Given the description of an element on the screen output the (x, y) to click on. 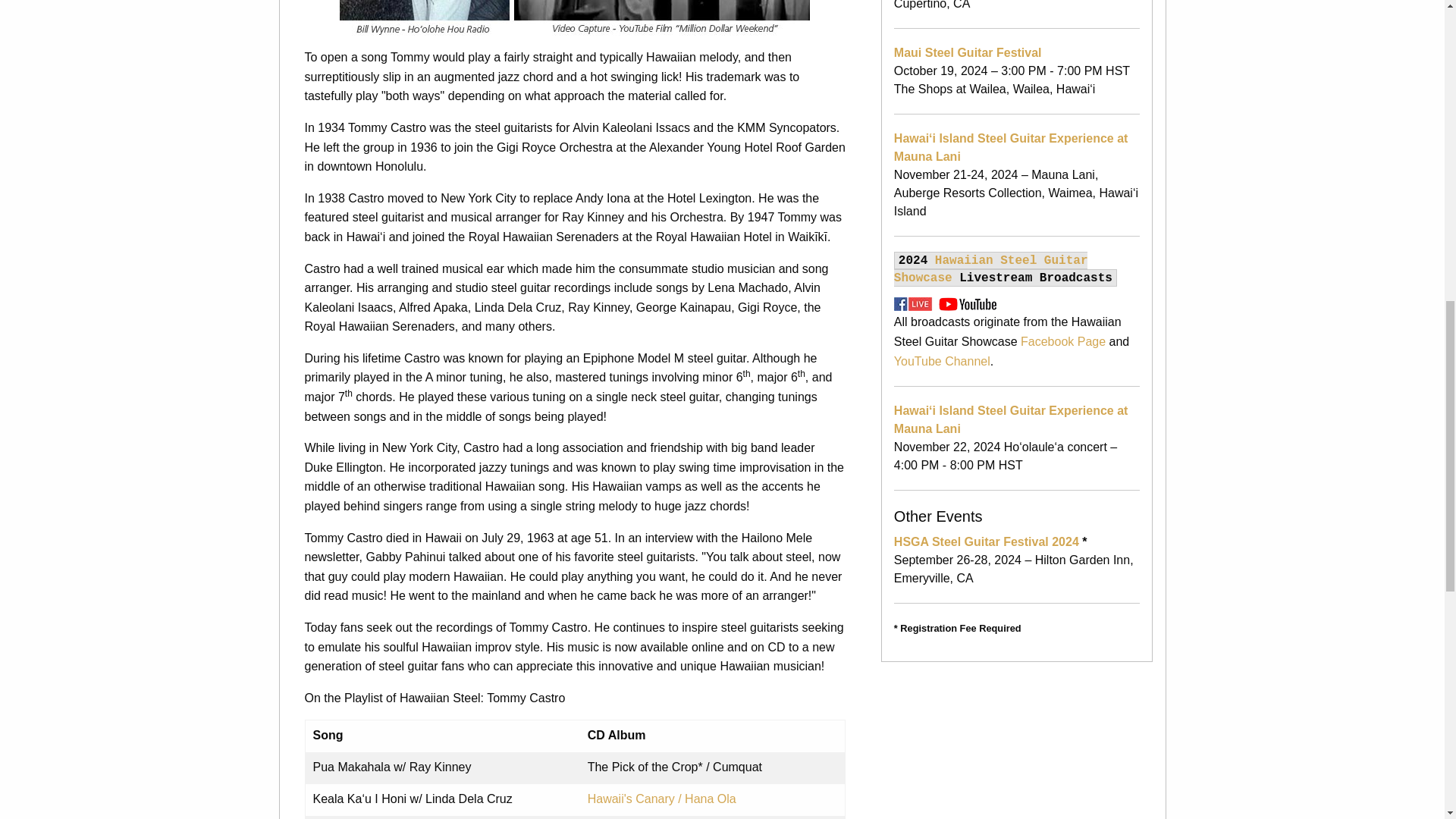
Facebook Page (1062, 341)
YouTube Channel (941, 360)
Maui Steel Guitar Festival (967, 51)
Hawaiian Steel Guitar Showcase (990, 269)
HSGA Steel Guitar Festival 2024 (985, 541)
